Given the description of an element on the screen output the (x, y) to click on. 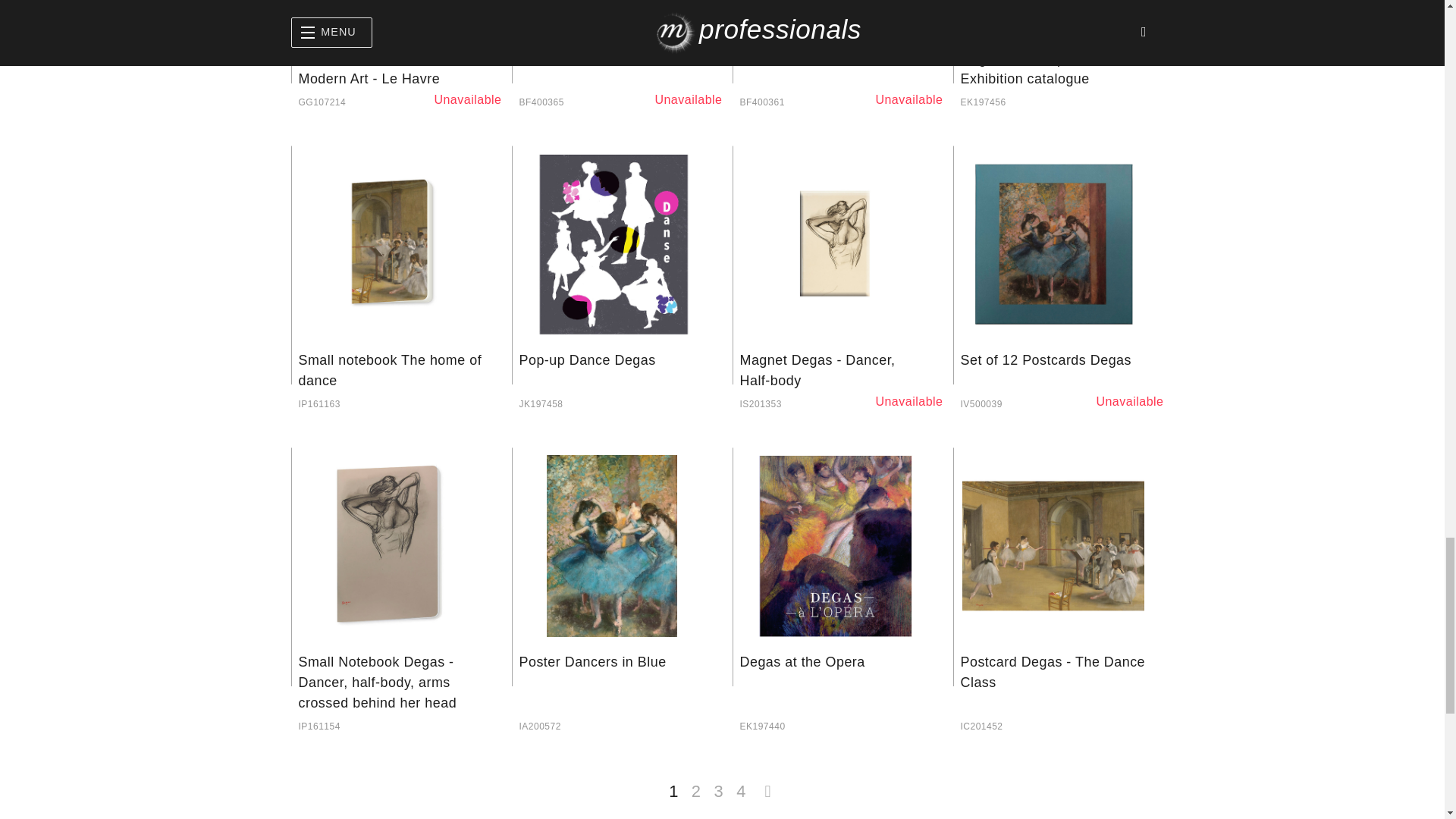
Go to page 2 (767, 784)
Go to page 4 (740, 784)
Go to page 2 (695, 784)
Go to page 3 (718, 784)
